Given the description of an element on the screen output the (x, y) to click on. 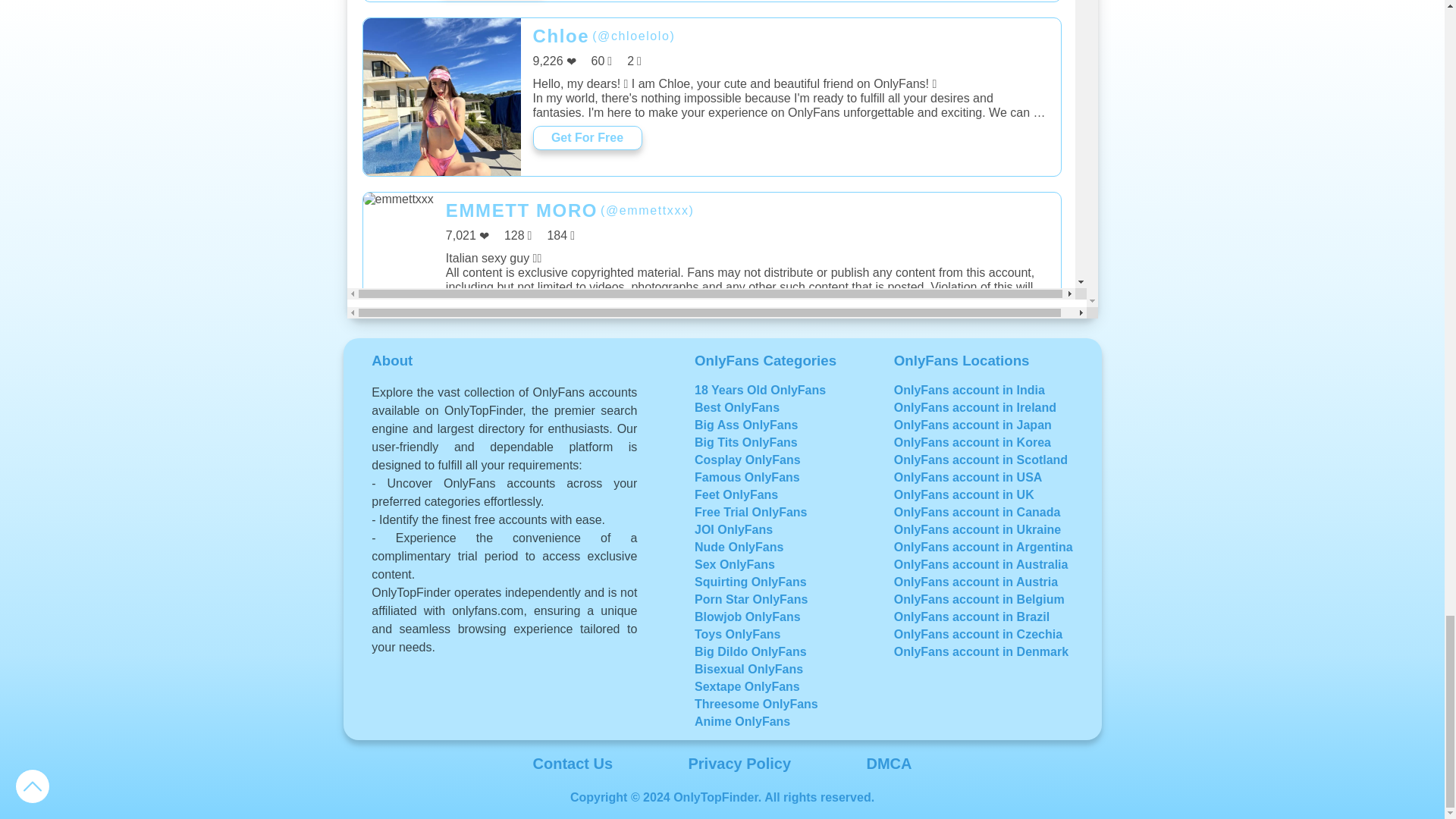
Get For Free (587, 469)
Get For Free (514, 643)
Get For Free (587, 799)
Get For Free (587, 137)
